Given the description of an element on the screen output the (x, y) to click on. 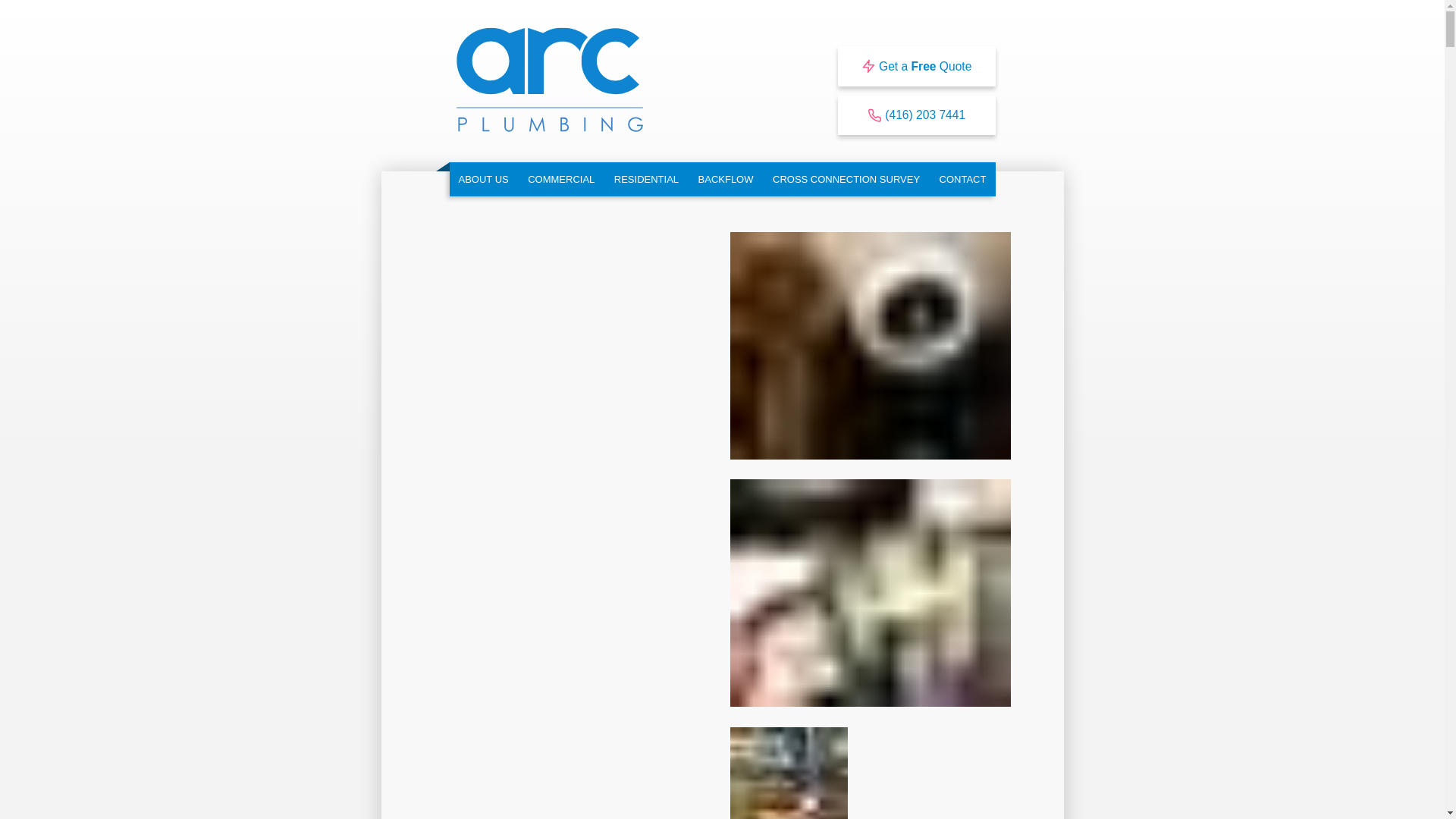
ABOUT US Element type: text (482, 179)
(416) 203 7441 Element type: text (916, 114)
RESIDENTIAL Element type: text (646, 179)
Get a Free Quote Element type: text (916, 65)
BACKFLOW Element type: text (725, 179)
COMMERCIAL Element type: text (560, 179)
CROSS CONNECTION SURVEY Element type: text (845, 179)
CONTACT Element type: text (962, 179)
